Given the description of an element on the screen output the (x, y) to click on. 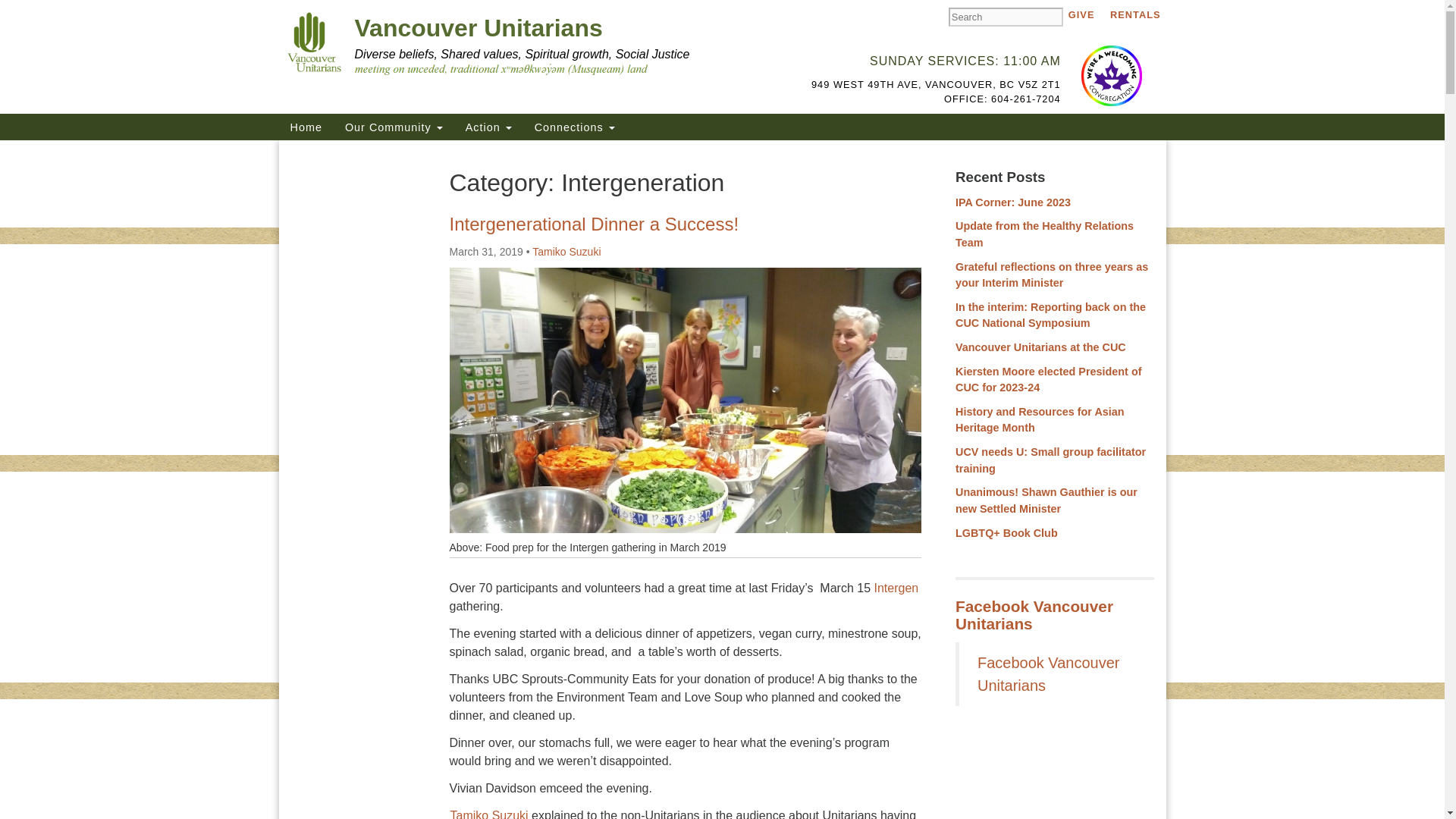
Our Community (393, 126)
Home (306, 126)
Tamiko Suzuki (488, 814)
RENTALS (1135, 14)
Tamiko Suzuki (565, 251)
Intergen (895, 587)
GIVE (1081, 14)
Our Community (393, 126)
Intergenerational Dinner a Success! (593, 223)
Action (488, 126)
